Given the description of an element on the screen output the (x, y) to click on. 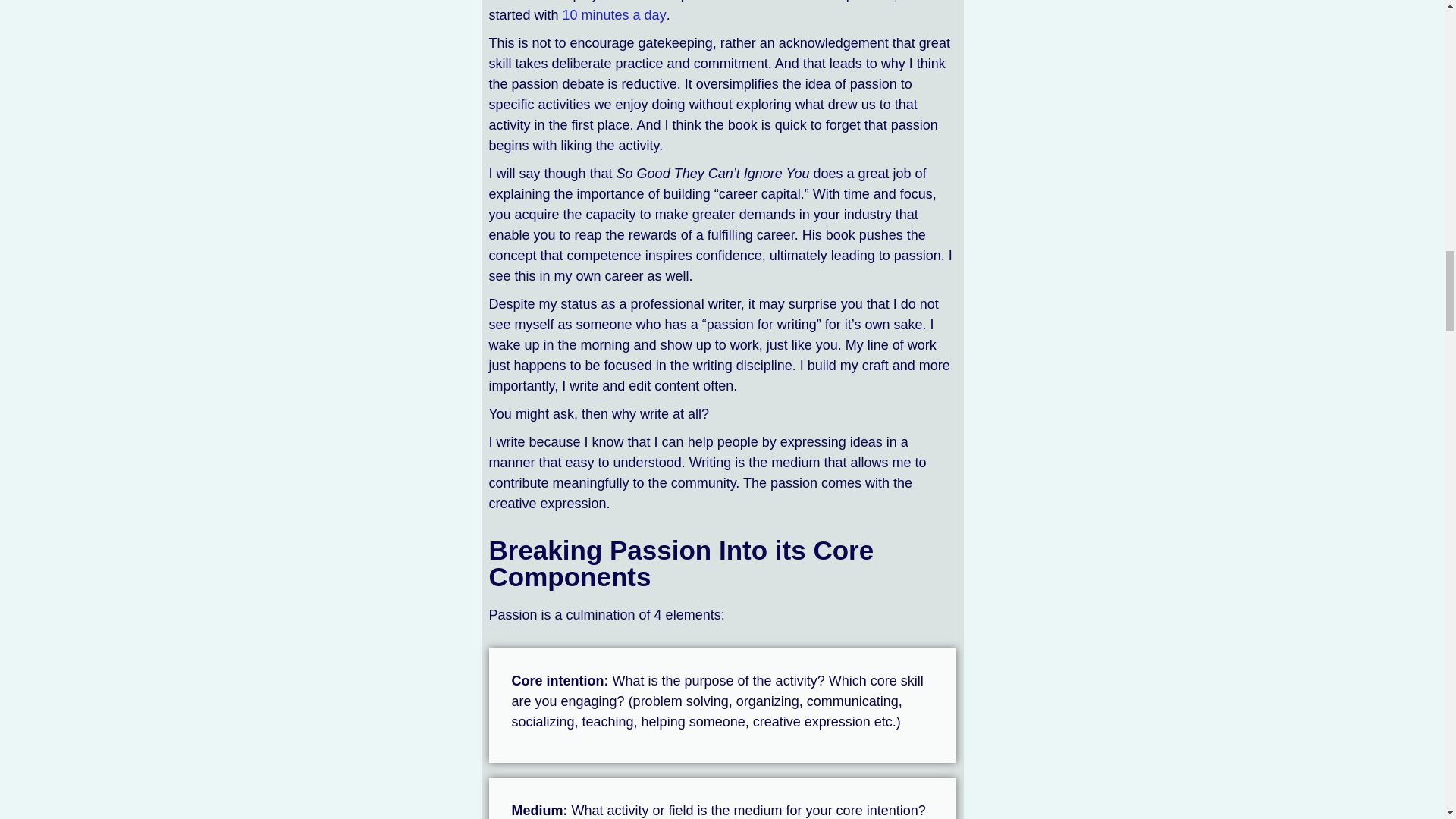
10 minutes a day (614, 14)
